Given the description of an element on the screen output the (x, y) to click on. 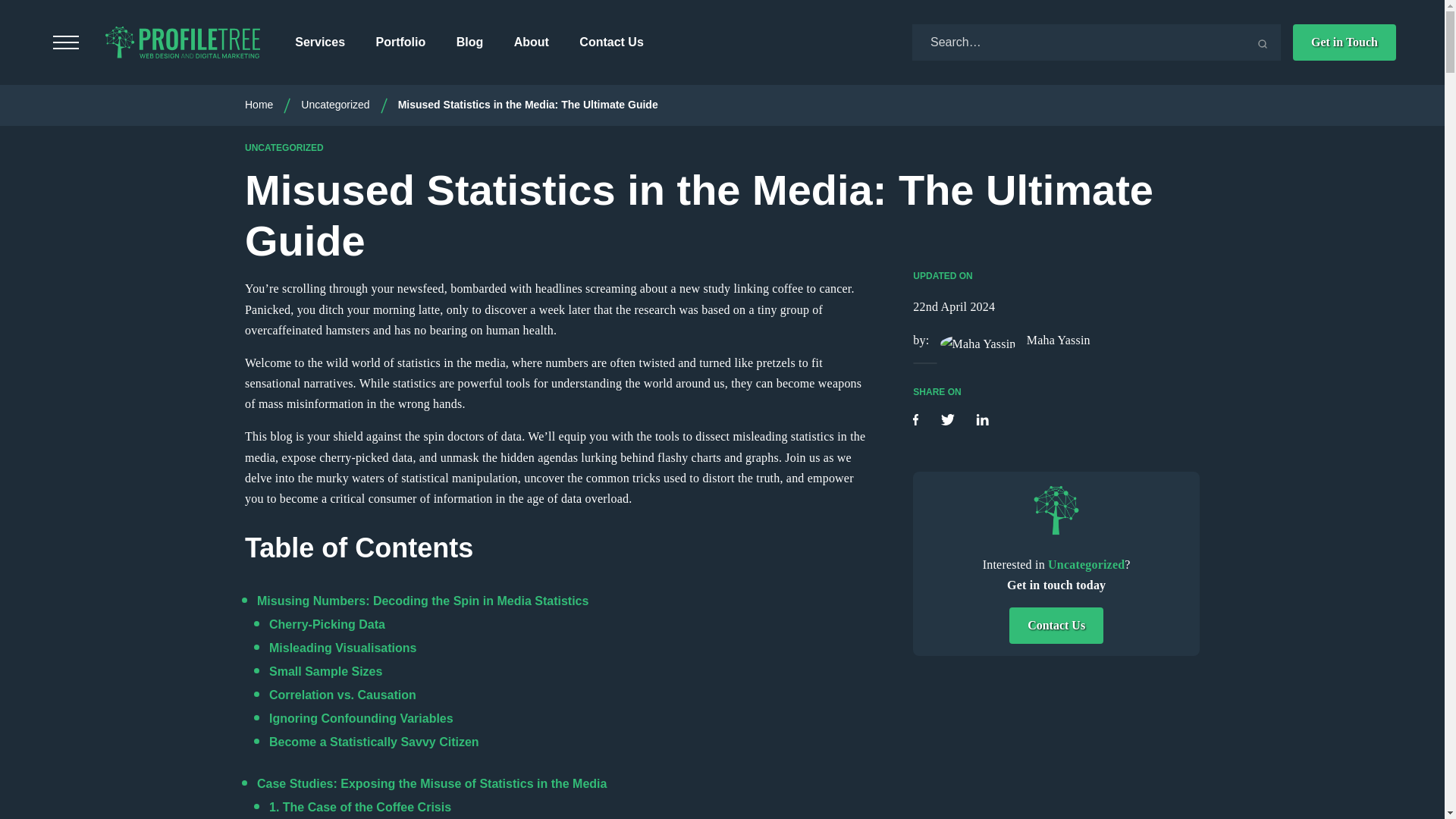
About (530, 42)
1. The Case of the Coffee Crisis (360, 807)
Ignoring Confounding Variables (360, 717)
Contact Us (611, 42)
Home (258, 104)
Become a Statistically Savvy Citizen (374, 741)
Misleading Visualisations (342, 647)
Small Sample Sizes (325, 671)
Share on LinkedIn (981, 420)
Share on Twitter (949, 420)
